Given the description of an element on the screen output the (x, y) to click on. 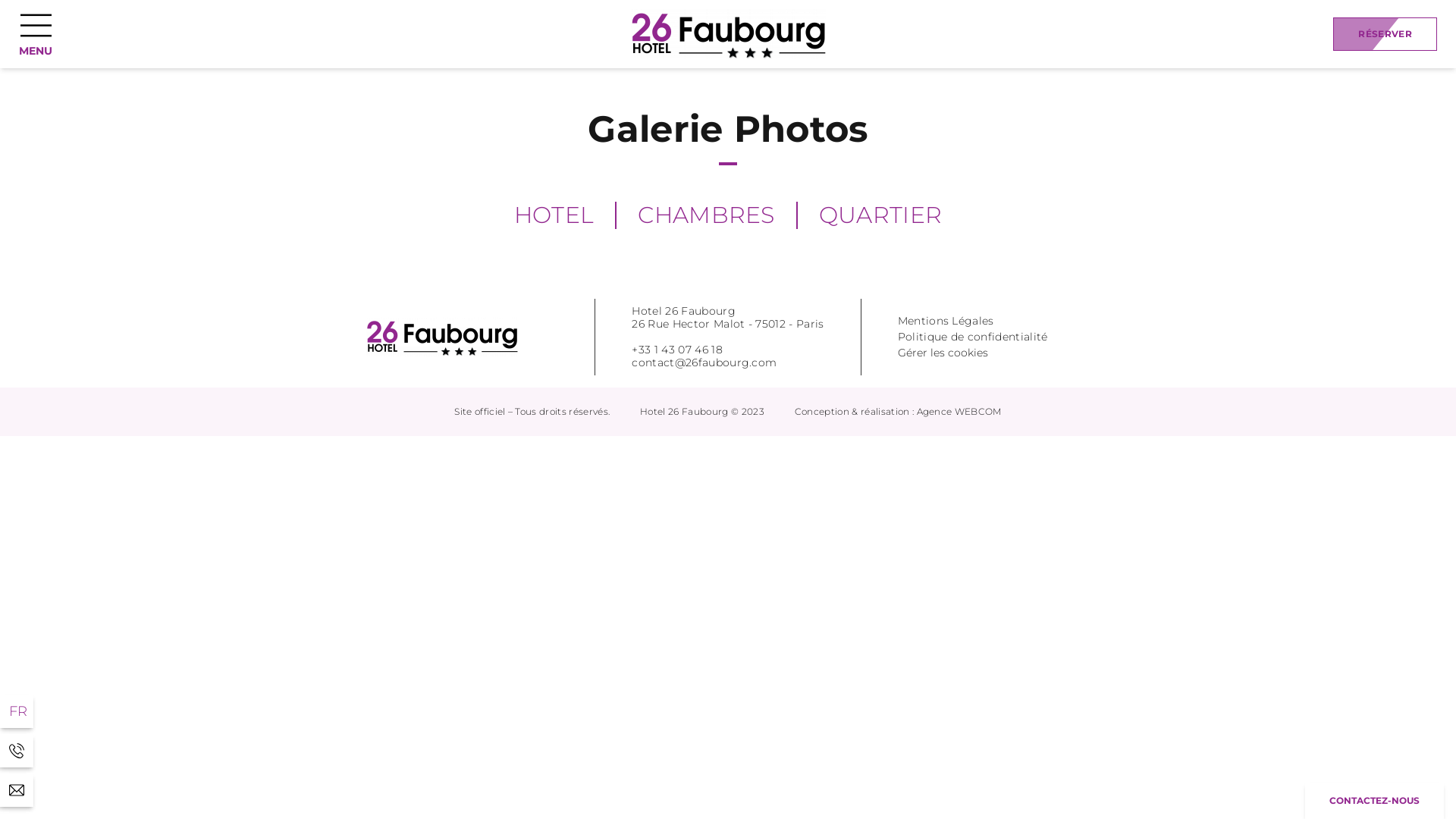
Hotel 26 Faubourg Element type: hover (441, 336)
FR Element type: text (16, 711)
MENU Element type: text (35, 33)
HOTEL Element type: text (554, 214)
+33 1 43 07 46 18 Element type: text (16, 750)
contact@26faubourg.com Element type: text (16, 789)
EN Element type: text (19, 710)
Agence WEBCOM Element type: text (958, 411)
QUARTIER Element type: text (880, 214)
CONTACTEZ-NOUS Element type: text (1374, 800)
CHAMBRES Element type: text (706, 214)
